Given the description of an element on the screen output the (x, y) to click on. 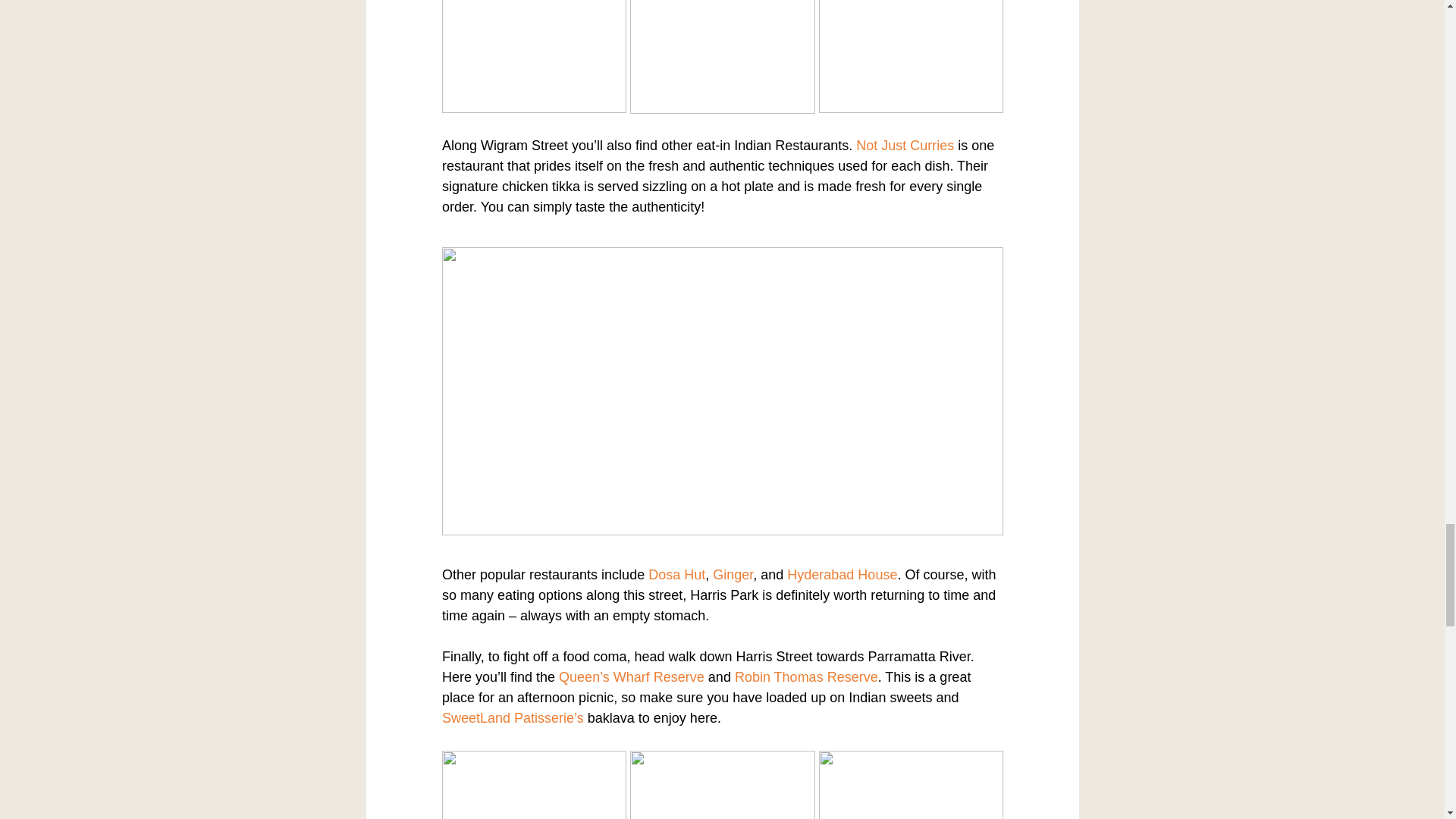
Dosa Hut (675, 574)
Not Just Curries (904, 145)
Hyderabad House (841, 574)
Ginger (732, 574)
